Given the description of an element on the screen output the (x, y) to click on. 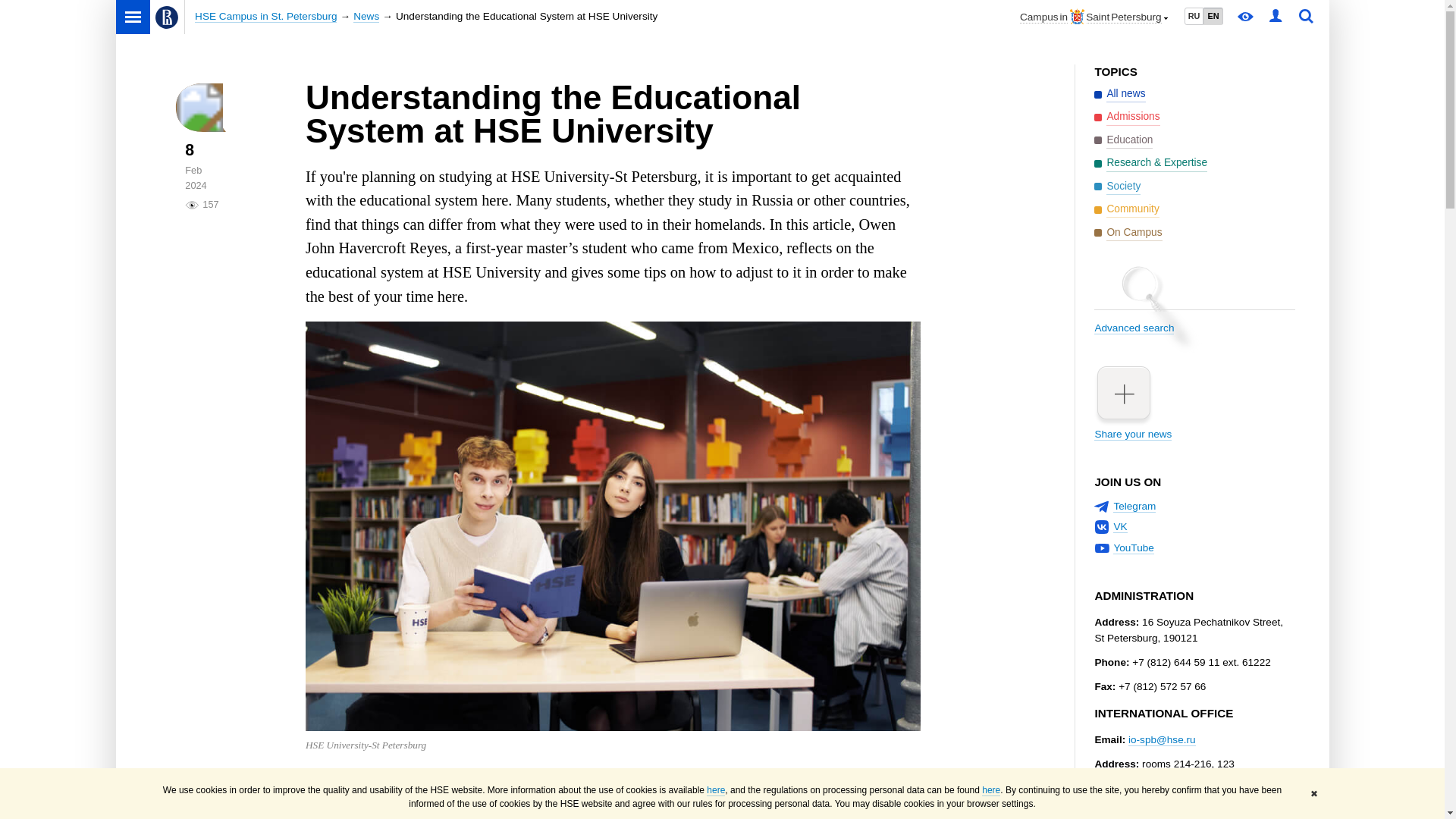
here (715, 790)
Admissions (1126, 116)
Share your news (1194, 402)
YouTube (1133, 548)
Community (1126, 208)
here (990, 790)
Telegram (1134, 506)
Education (1123, 139)
On Campus (1127, 232)
Society (1117, 186)
News (365, 16)
HSE Campus in St. Petersburg (265, 16)
Advanced search (1194, 314)
All news (1119, 93)
